Given the description of an element on the screen output the (x, y) to click on. 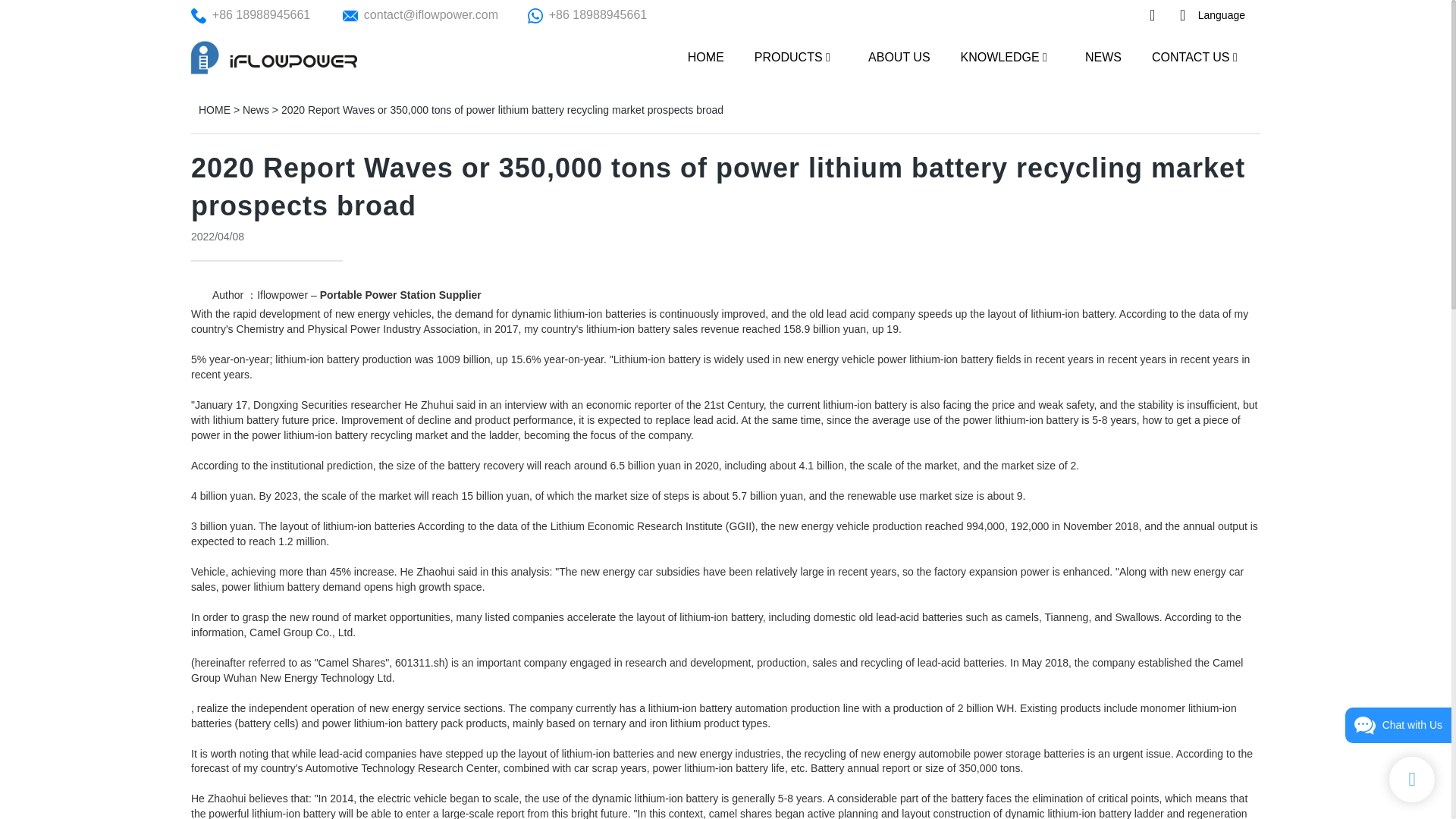
NEWS (1102, 56)
CONTACT US (1190, 56)
KNOWLEDGE (999, 56)
Portable Power Station Supplier (400, 295)
News (256, 110)
HOME (705, 56)
HOME (214, 110)
PRODUCTS (788, 56)
ABOUT US (898, 56)
